Given the description of an element on the screen output the (x, y) to click on. 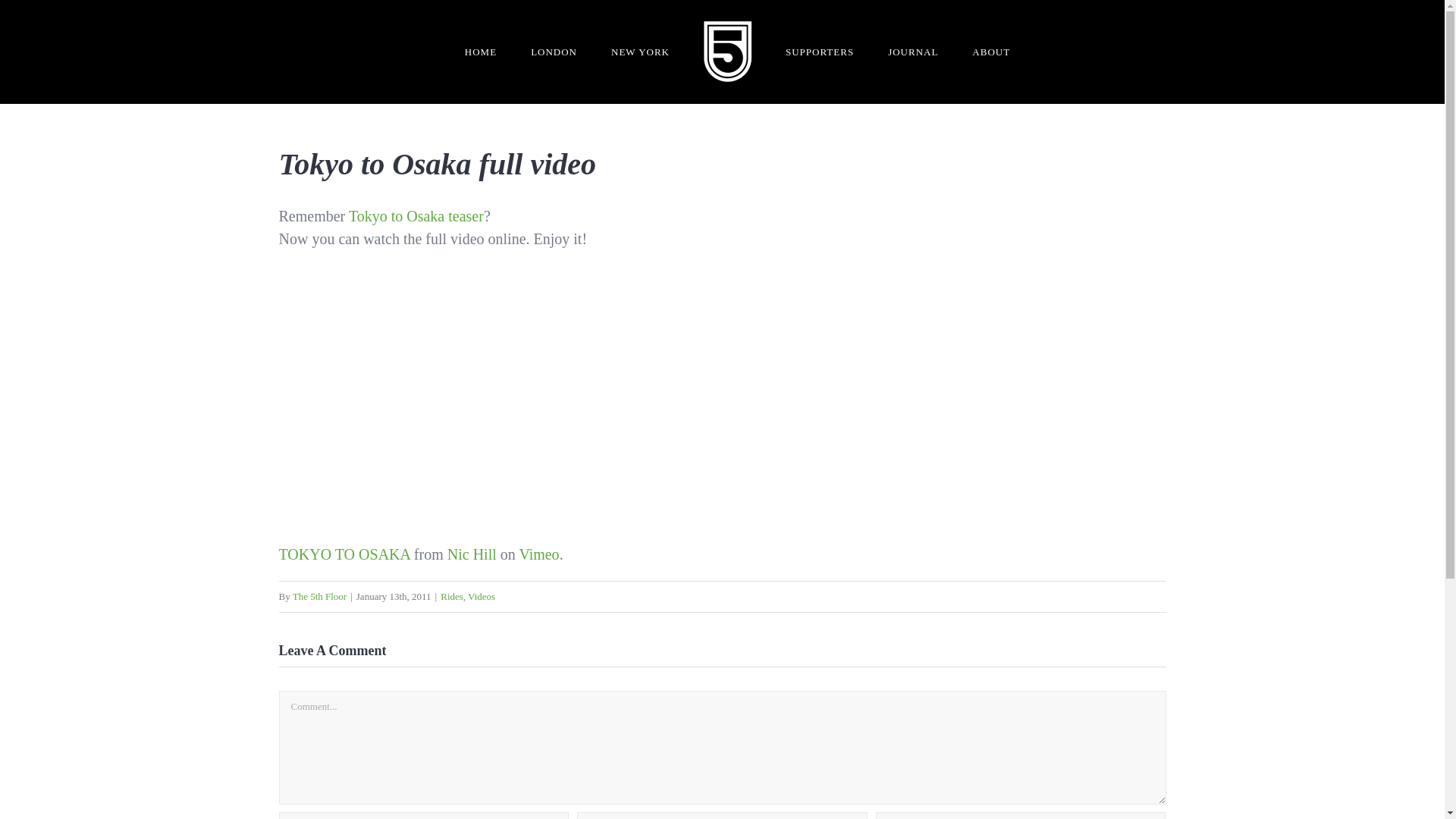
NEW YORK (640, 51)
TOKYO TO OSAKA (344, 554)
Videos (481, 595)
The 5th Floor (319, 595)
Posts by The 5th Floor (319, 595)
Nic Hill (471, 554)
Vimeo (538, 554)
SUPPORTERS (819, 51)
Tokyo to Osaka teaser (416, 216)
Rides (452, 595)
